Given the description of an element on the screen output the (x, y) to click on. 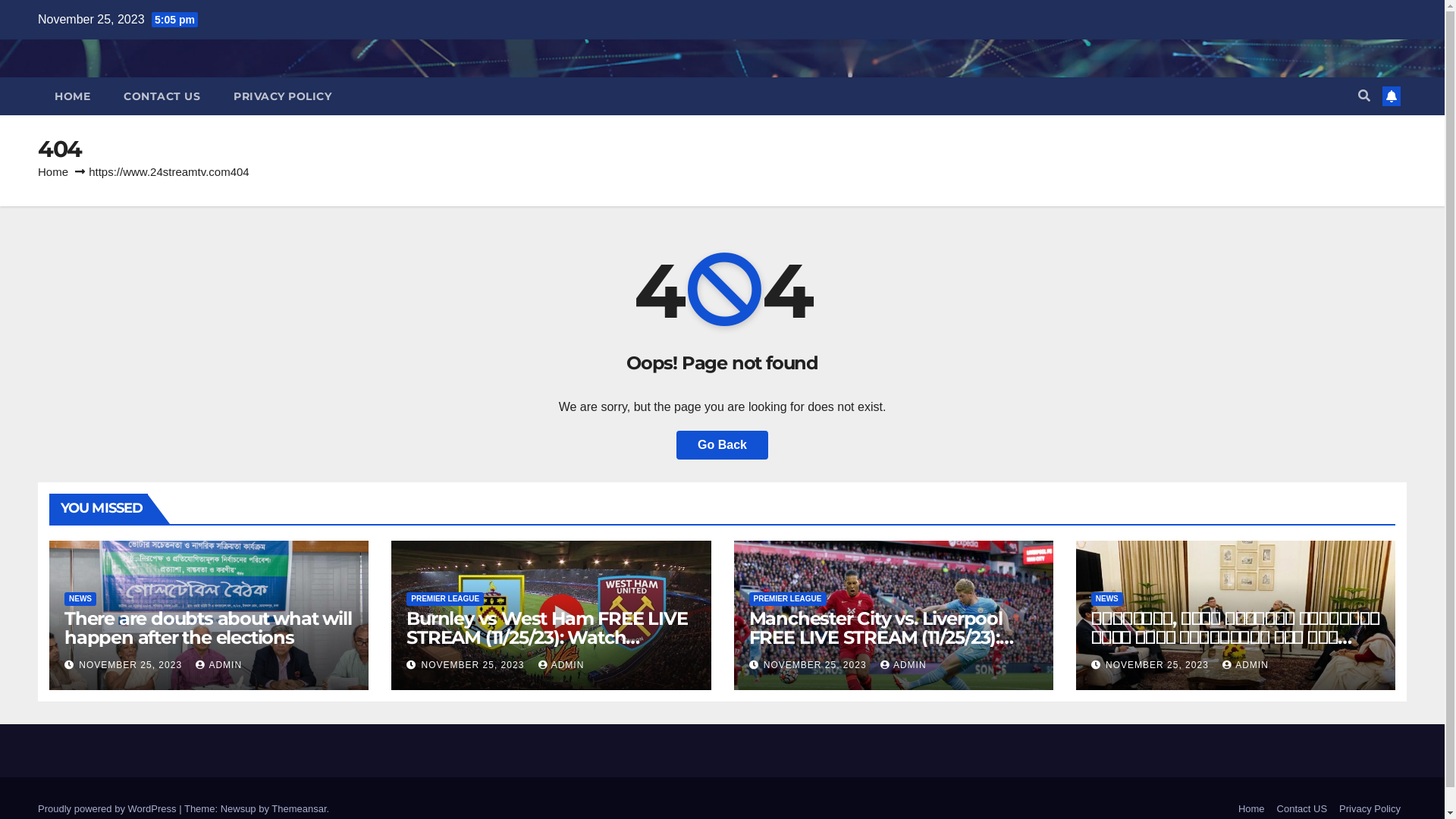
Go Back Element type: text (722, 444)
NOVEMBER 25, 2023 Element type: text (816, 664)
Home Element type: text (52, 171)
PREMIER LEAGUE Element type: text (444, 598)
NEWS Element type: text (1107, 598)
Themeansar Element type: text (298, 808)
Proudly powered by WordPress Element type: text (107, 808)
NOVEMBER 25, 2023 Element type: text (131, 664)
NOVEMBER 25, 2023 Element type: text (474, 664)
ADMIN Element type: text (561, 664)
There are doubts about what will happen after the elections Element type: text (207, 627)
NOVEMBER 25, 2023 Element type: text (1158, 664)
ADMIN Element type: text (218, 664)
ADMIN Element type: text (903, 664)
ADMIN Element type: text (1245, 664)
CONTACT US Element type: text (161, 96)
PREMIER LEAGUE Element type: text (787, 598)
NEWS Element type: text (80, 598)
HOME Element type: text (71, 96)
PRIVACY POLICY Element type: text (282, 96)
